Given the description of an element on the screen output the (x, y) to click on. 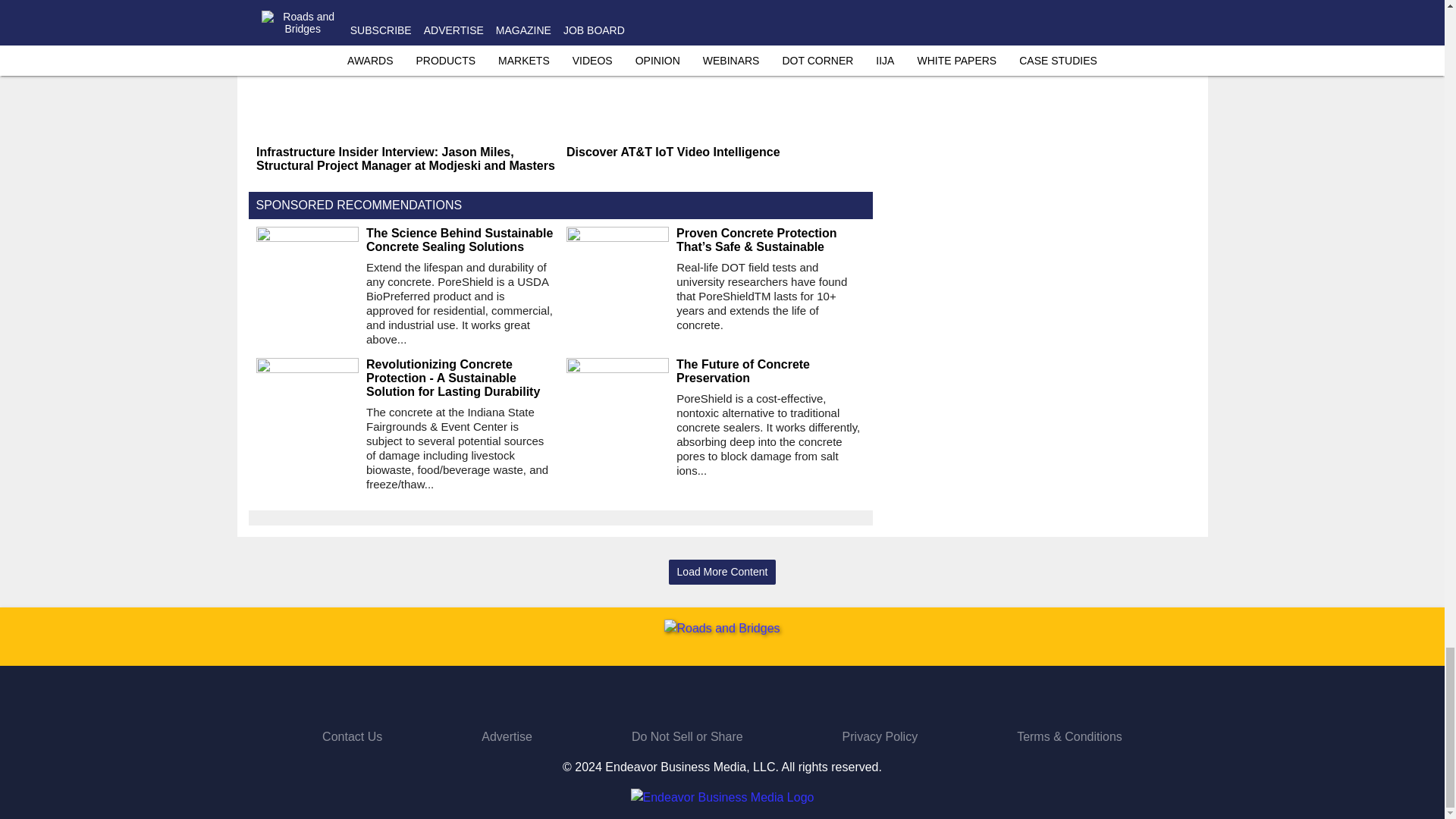
The Science Behind Sustainable Concrete Sealing Solutions (459, 239)
The Future of Concrete Preservation (770, 370)
